Given the description of an element on the screen output the (x, y) to click on. 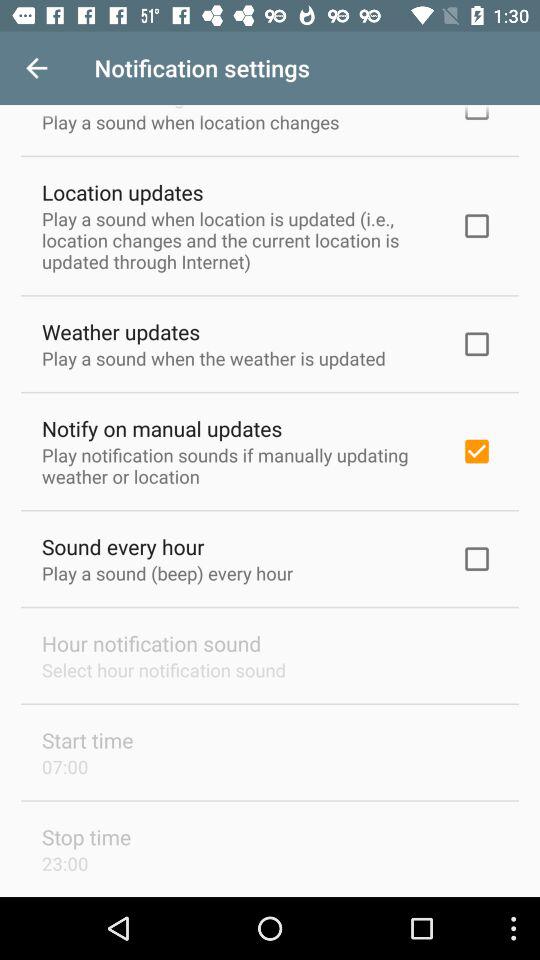
tap the icon next to the notification settings icon (36, 68)
